Given the description of an element on the screen output the (x, y) to click on. 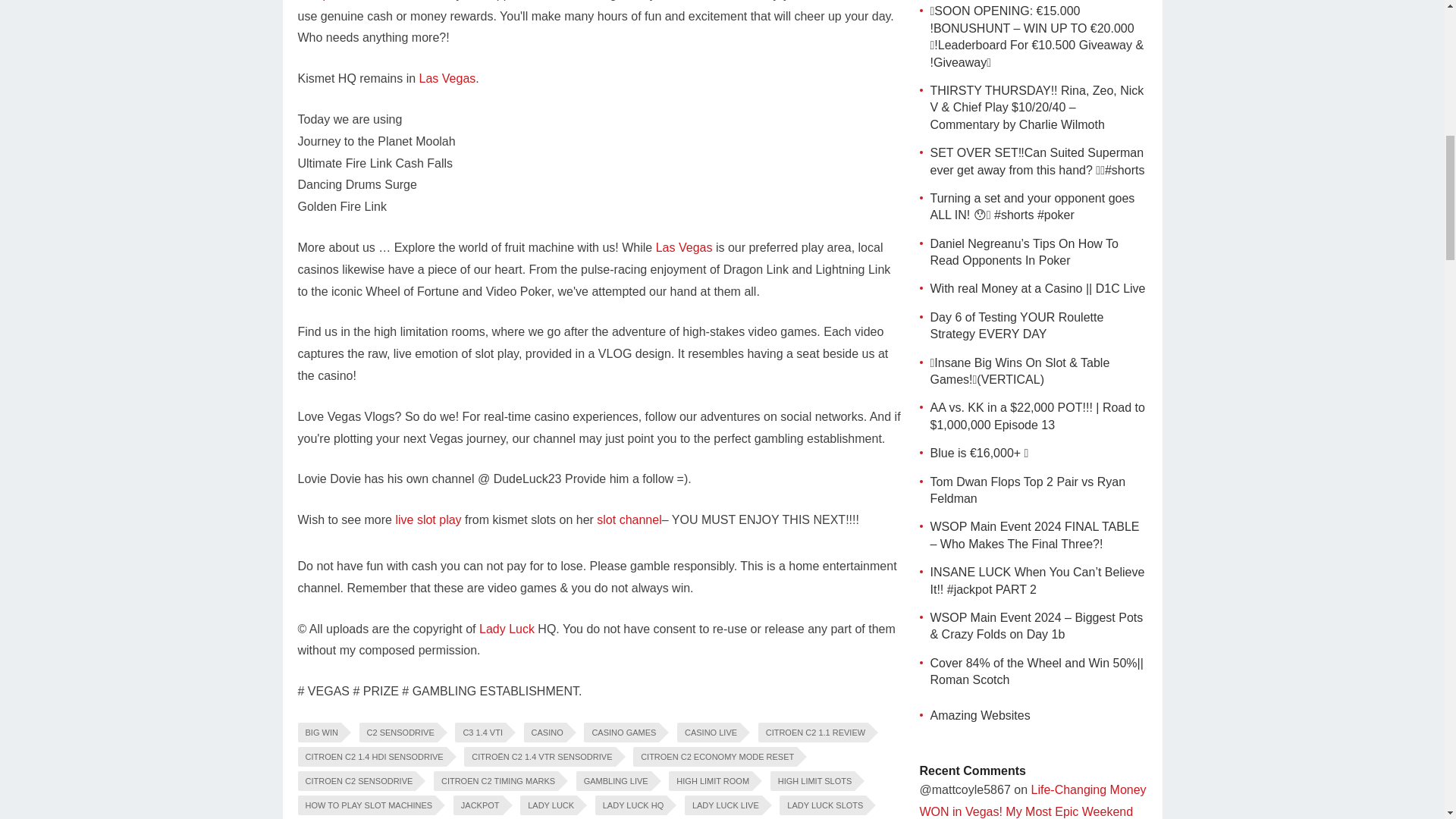
Jackpot (318, 0)
Posts tagged with las vegas (447, 78)
Las Vegas (447, 78)
Posts tagged with jackpot (318, 0)
live slot play (427, 519)
Posts tagged with las vegas (684, 246)
slot channel (628, 519)
Las Vegas (684, 246)
Posts tagged with live slot play (427, 519)
Posts tagged with slot channel (628, 519)
